Given the description of an element on the screen output the (x, y) to click on. 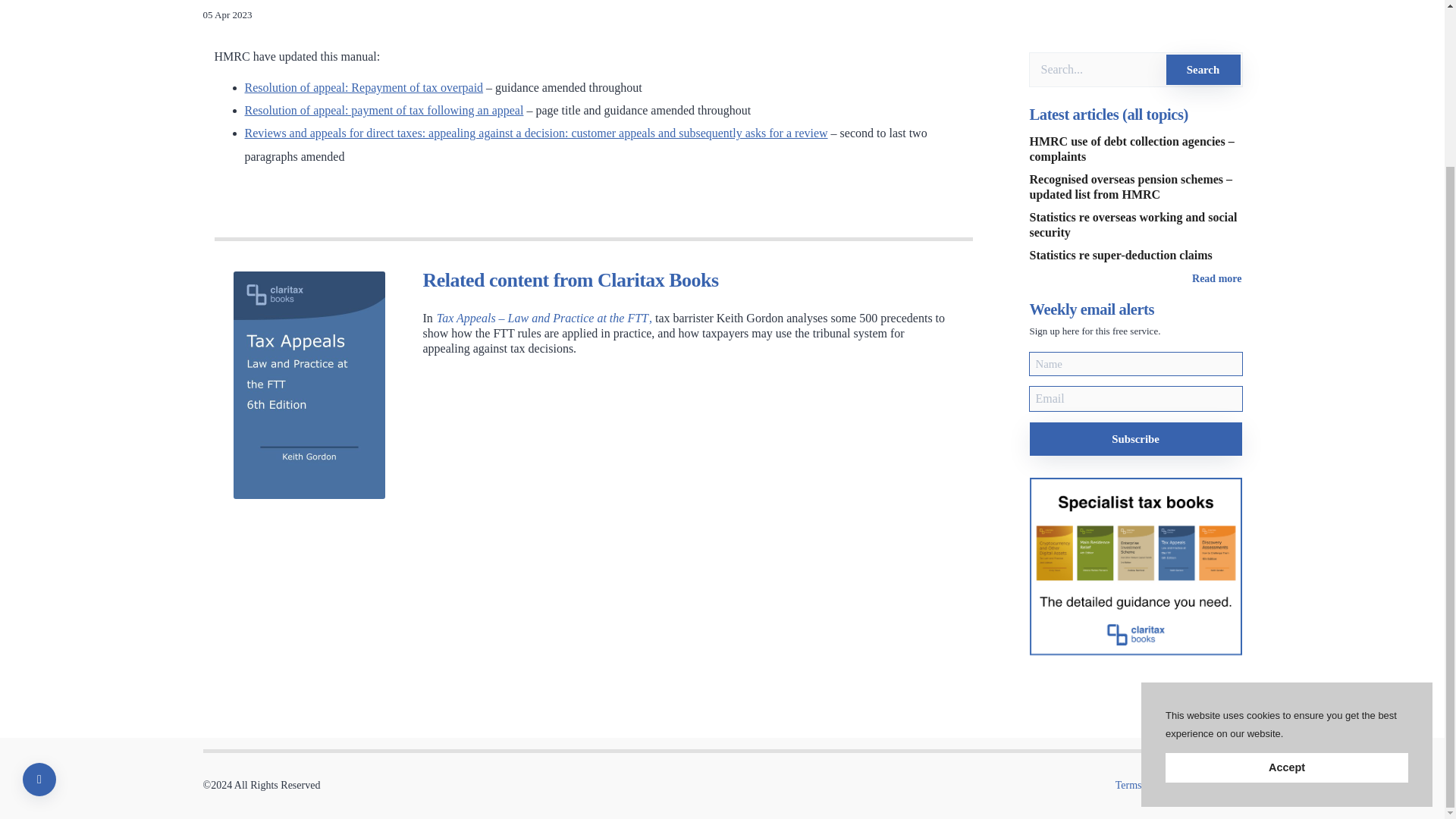
Resolution of appeal: Repayment of tax overpaid (363, 87)
Search (1203, 69)
Search (1203, 69)
Statistics re super-deduction claims (1120, 254)
Statistics re overseas working and social security (1133, 224)
Subscribe (1135, 438)
Search (1203, 69)
Resolution of appeal: payment of tax following an appeal (383, 110)
